Given the description of an element on the screen output the (x, y) to click on. 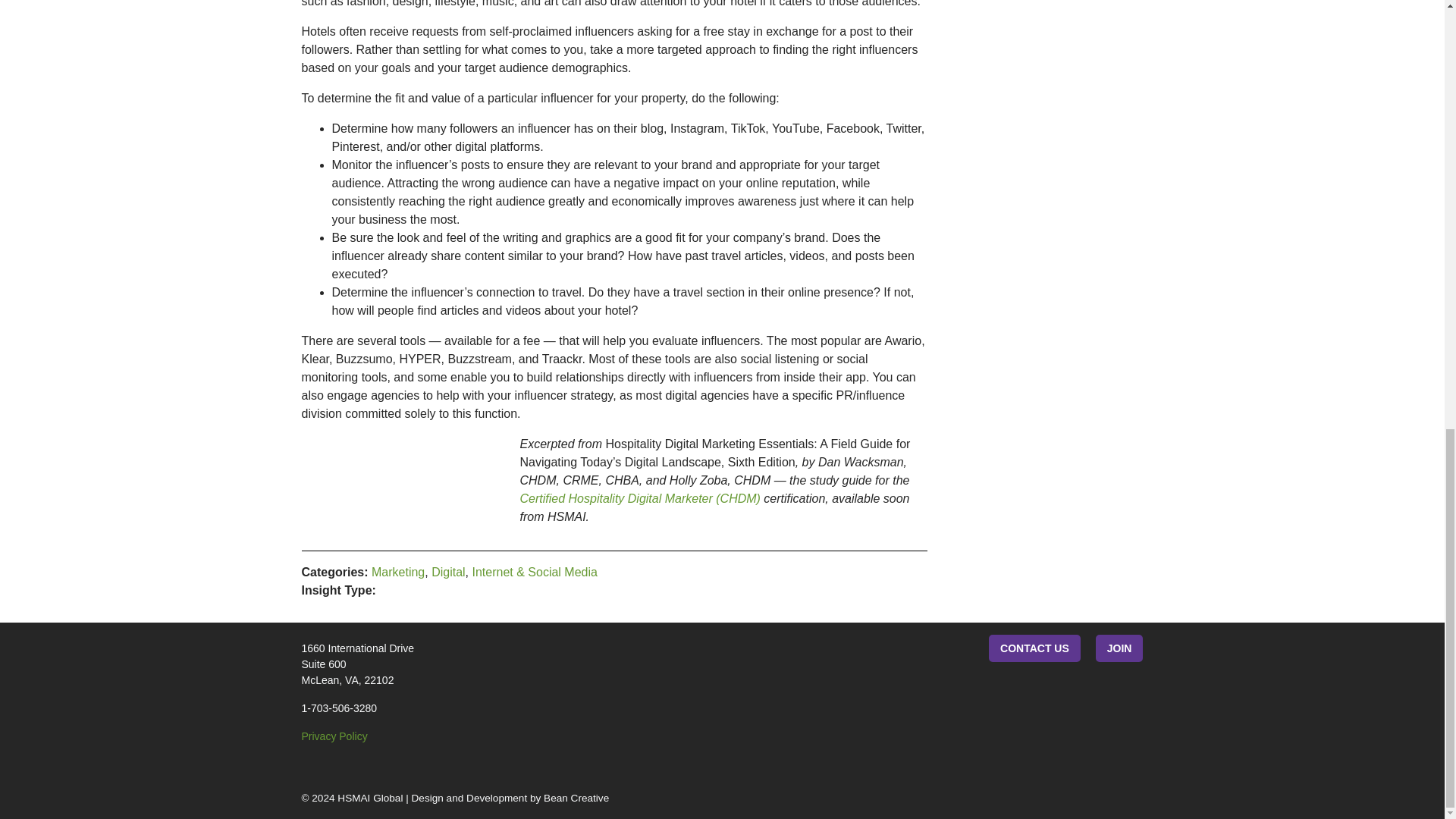
Bean Creative (511, 797)
